Given the description of an element on the screen output the (x, y) to click on. 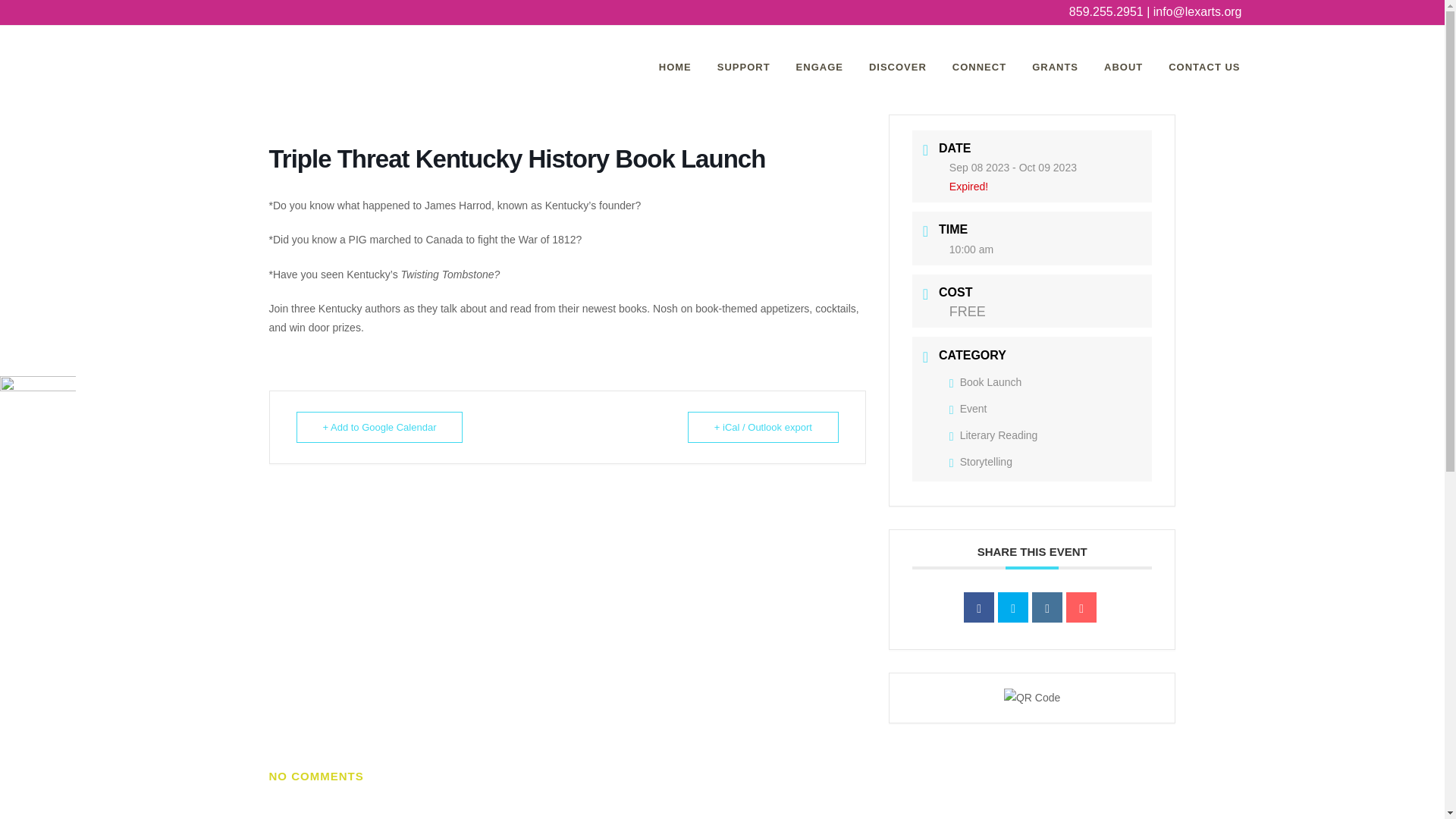
Tweet (1012, 607)
Share on Facebook (978, 607)
CONNECT (979, 66)
DISCOVER (897, 66)
Linkedin (1047, 607)
SUPPORT (743, 66)
859.255.2951 (1105, 11)
Email (1080, 607)
